Given the description of an element on the screen output the (x, y) to click on. 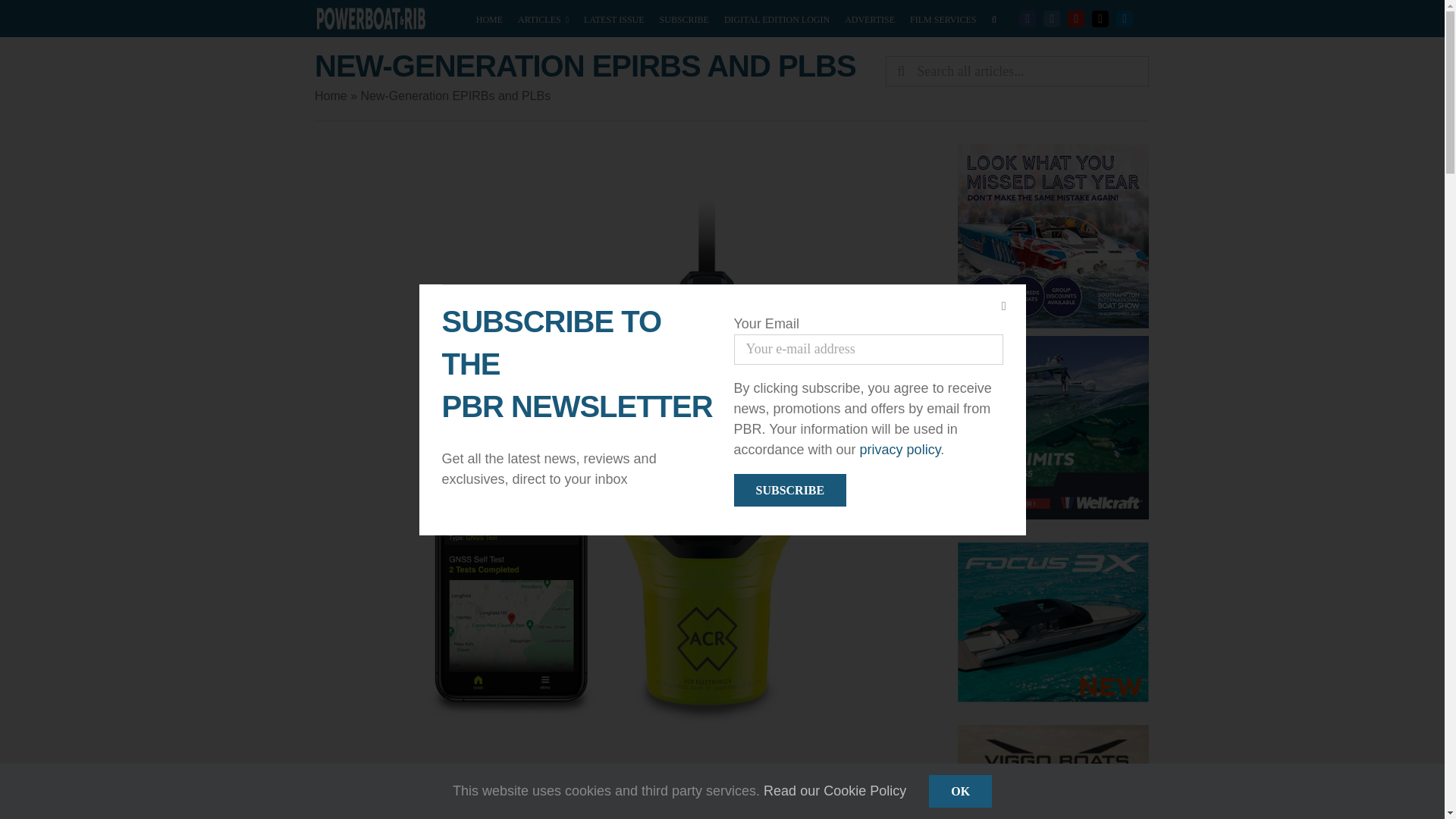
LATEST ISSUE (613, 18)
FILM SERVICES (942, 18)
SUBSCRIBE (684, 18)
ADVERTISE (869, 18)
Home (330, 95)
ARTICLES (543, 18)
DIGITAL EDITION LOGIN (776, 18)
Subscribe (790, 489)
